Given the description of an element on the screen output the (x, y) to click on. 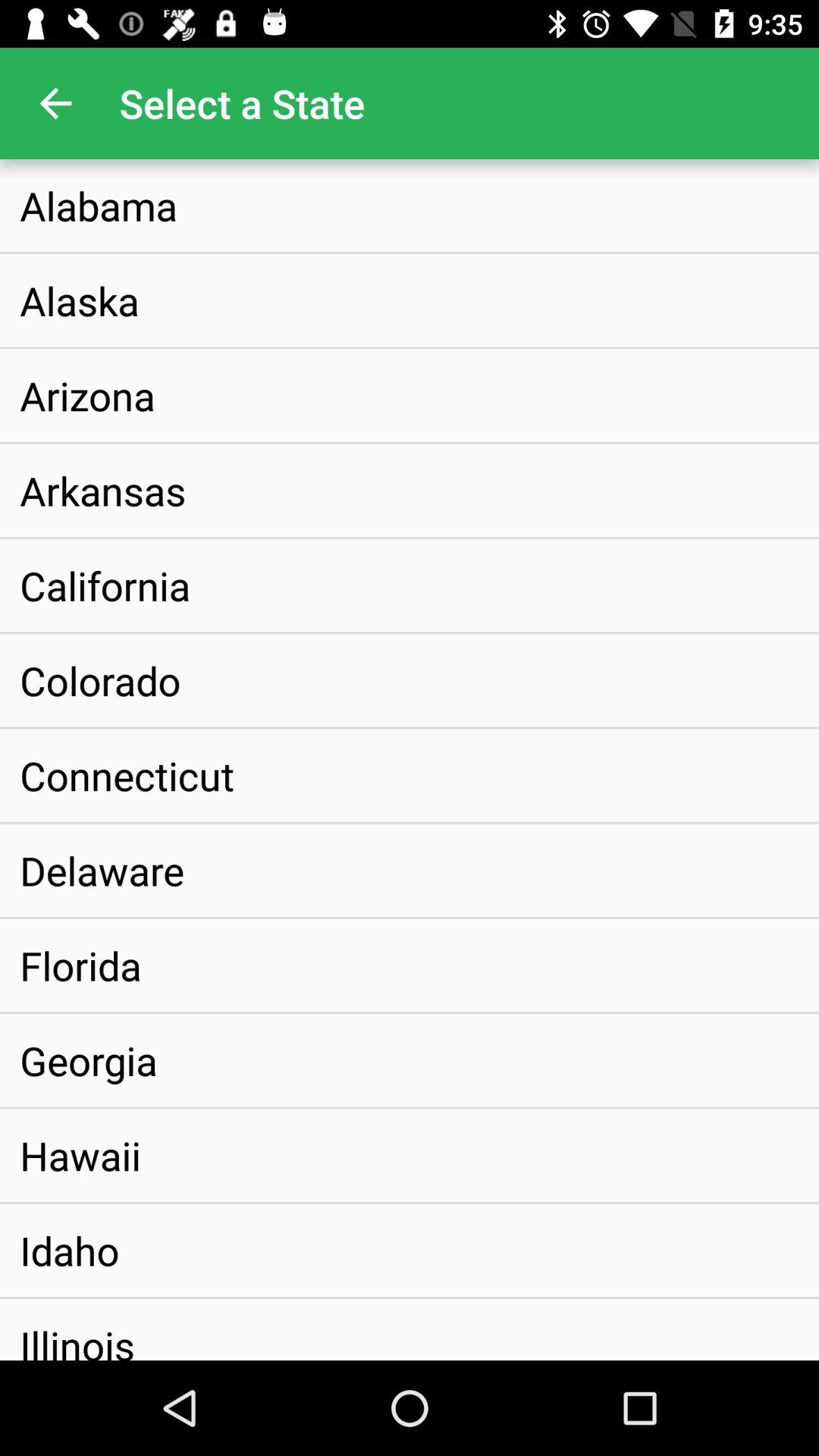
open item below the hawaii icon (69, 1250)
